Given the description of an element on the screen output the (x, y) to click on. 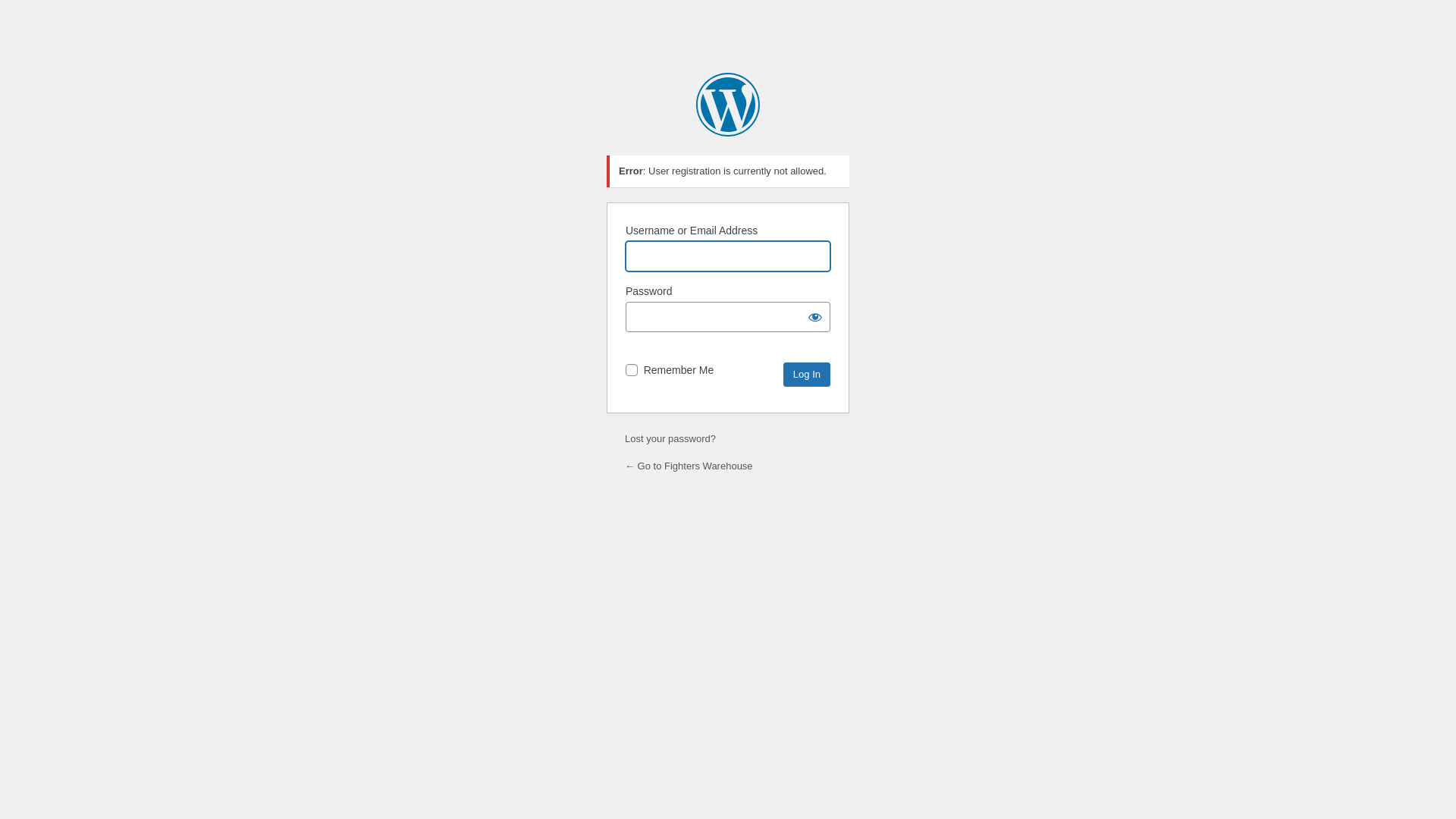
Log In Element type: text (806, 374)
Lost your password? Element type: text (669, 438)
Powered by WordPress Element type: text (727, 104)
